Given the description of an element on the screen output the (x, y) to click on. 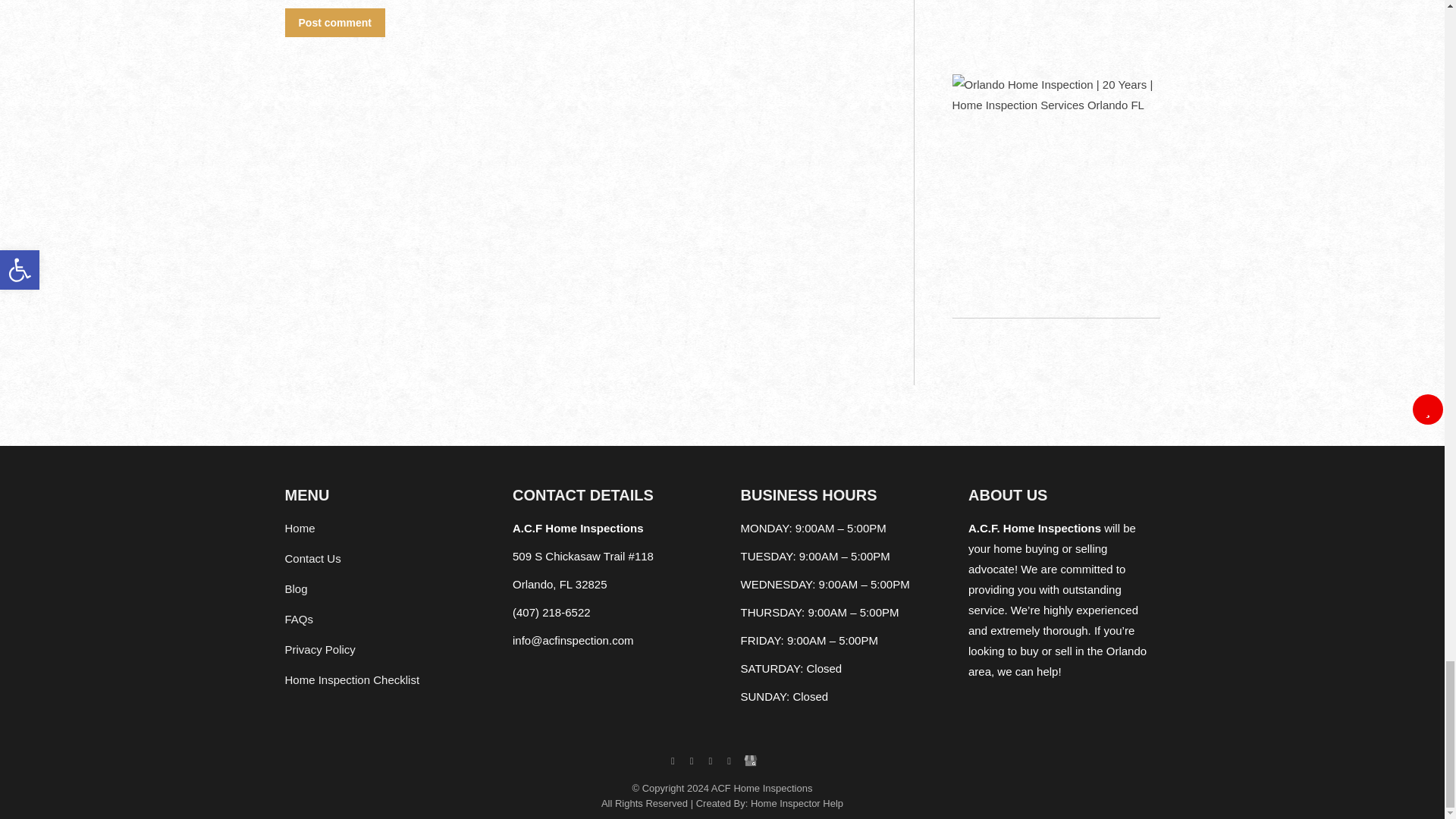
reCAPTCHA (400, 1)
